Given the description of an element on the screen output the (x, y) to click on. 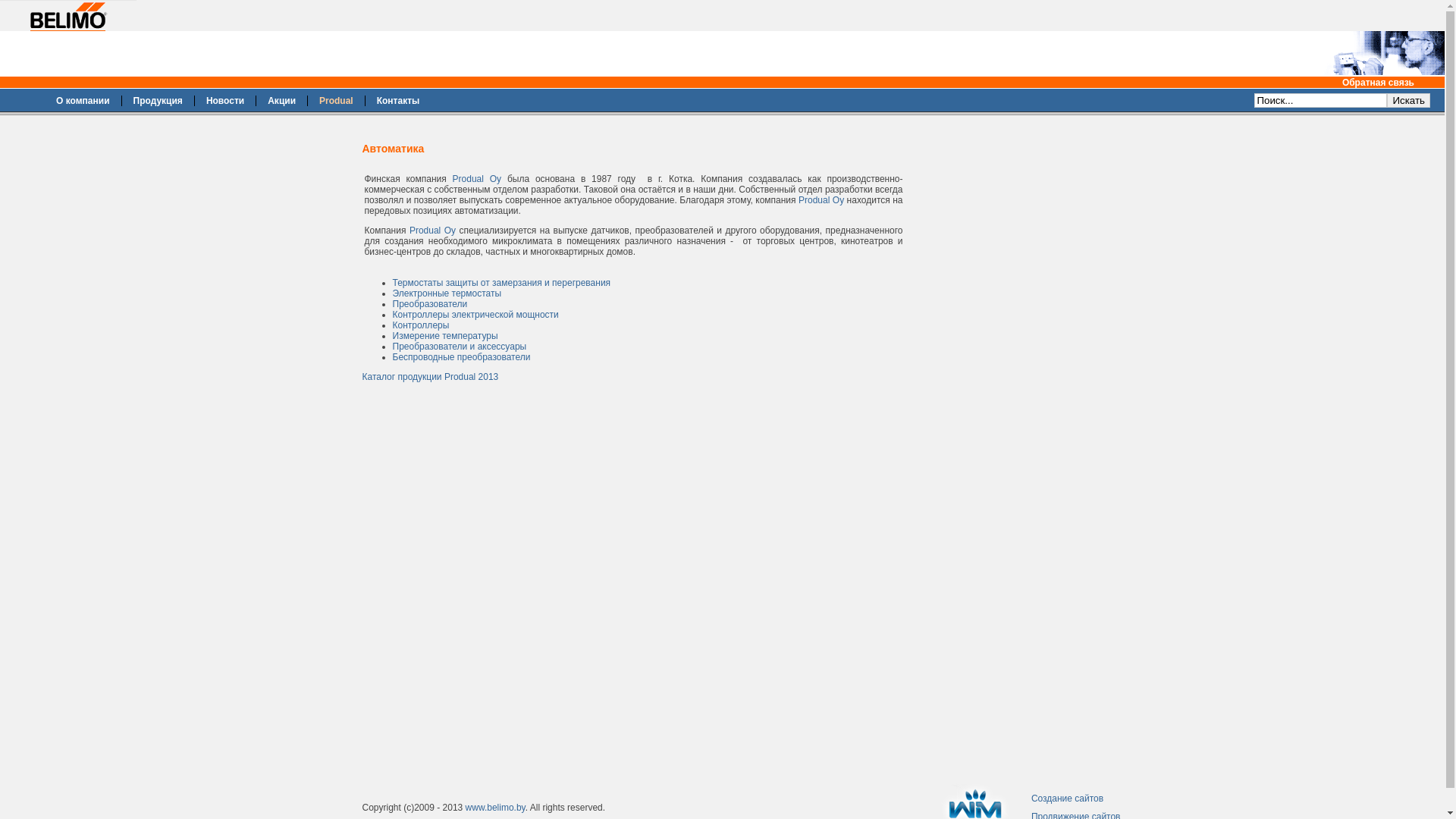
Produal Oy Element type: text (434, 230)
Produal Oy Element type: text (477, 178)
Produal Oy Element type: text (822, 199)
Produal Element type: text (336, 100)
www.belimo.by Element type: text (495, 807)
